Given the description of an element on the screen output the (x, y) to click on. 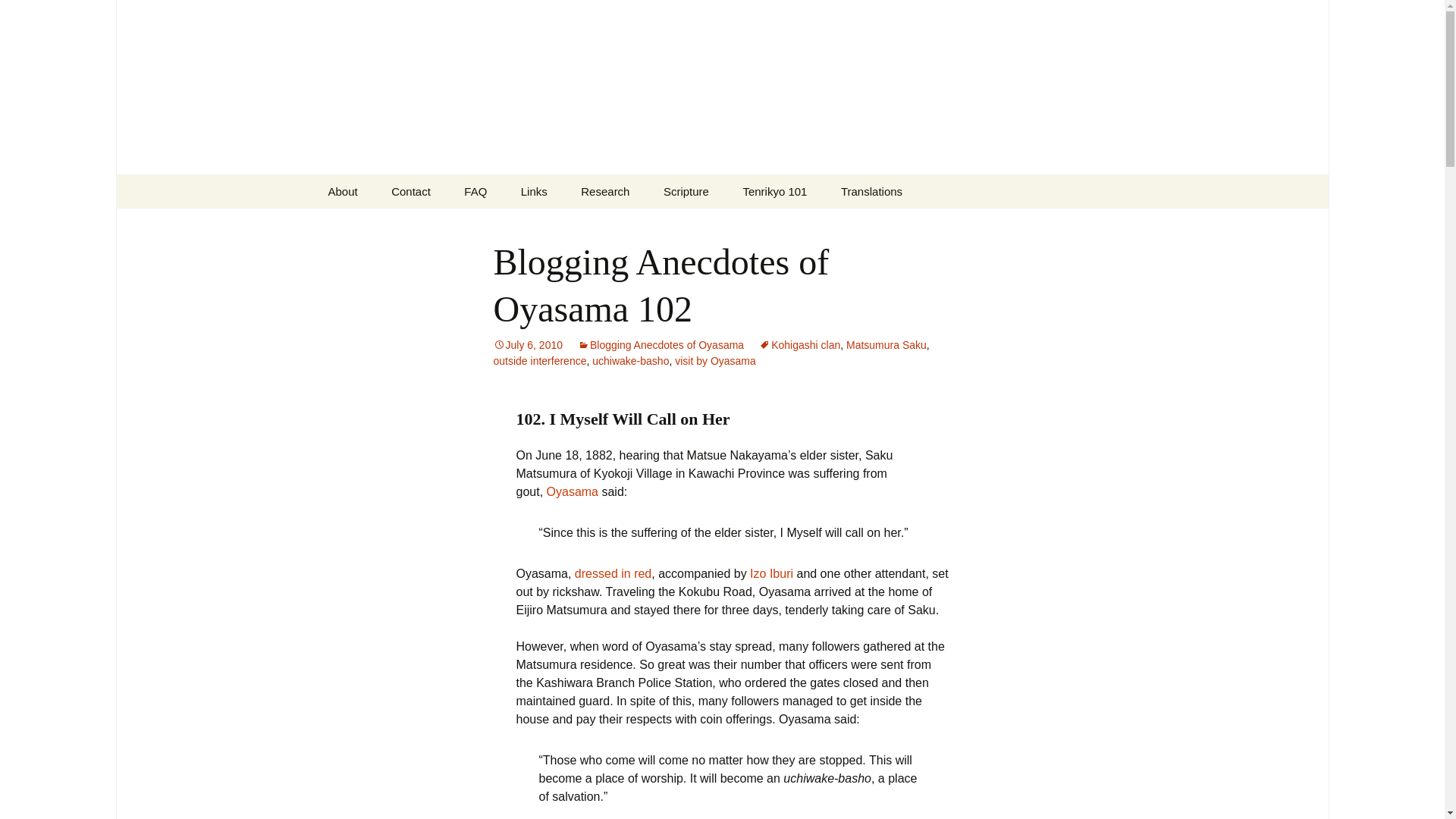
dressed in red (612, 573)
Research (605, 191)
Blogging Anecdotes of Oyasama (661, 345)
July 6, 2010 (527, 345)
FAQ (475, 191)
Links (533, 191)
Life of the Honseki (771, 573)
Scripture (685, 191)
Permalink to Blogging Anecdotes of Oyasama 102 (527, 345)
The Eight Dusts of the Mind (802, 230)
